Given the description of an element on the screen output the (x, y) to click on. 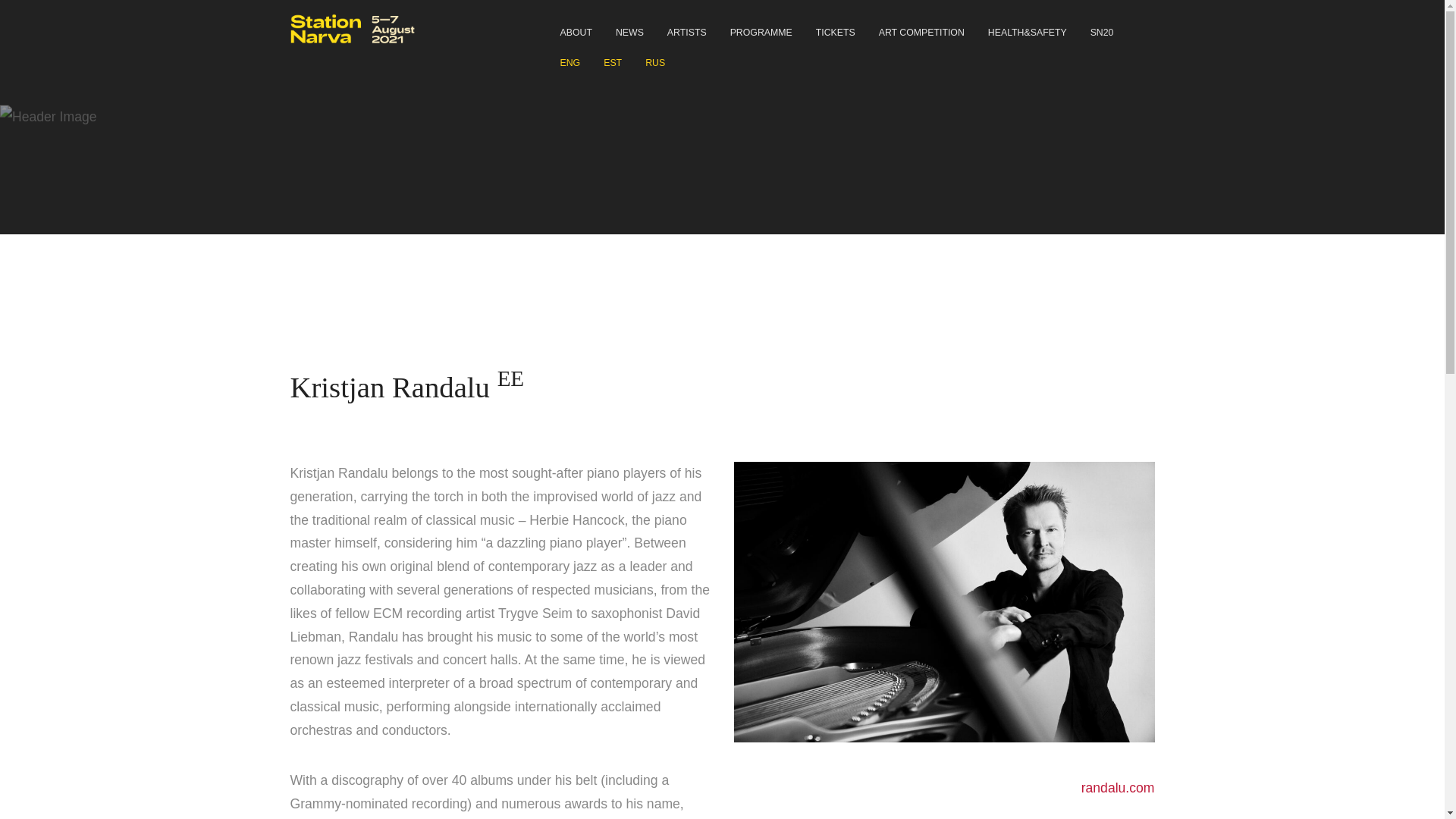
ENG (569, 59)
ART COMPETITION (921, 28)
NEWS (629, 28)
RUS (654, 59)
randalu.com (1117, 787)
TICKETS (835, 28)
ARTISTS (686, 28)
EST (611, 59)
RUS (654, 59)
SN20 (1102, 28)
